Given the description of an element on the screen output the (x, y) to click on. 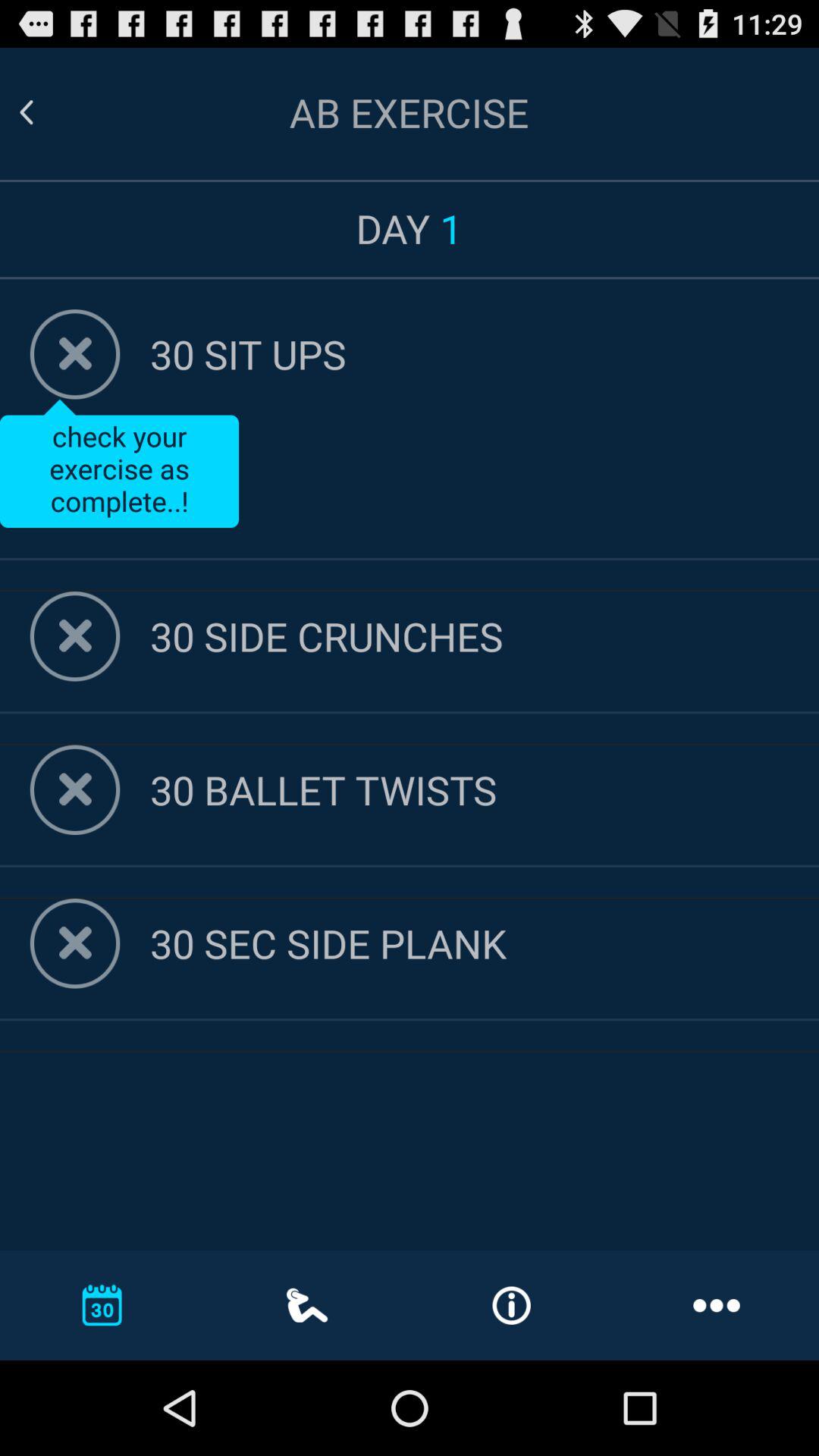
go back (44, 112)
